Given the description of an element on the screen output the (x, y) to click on. 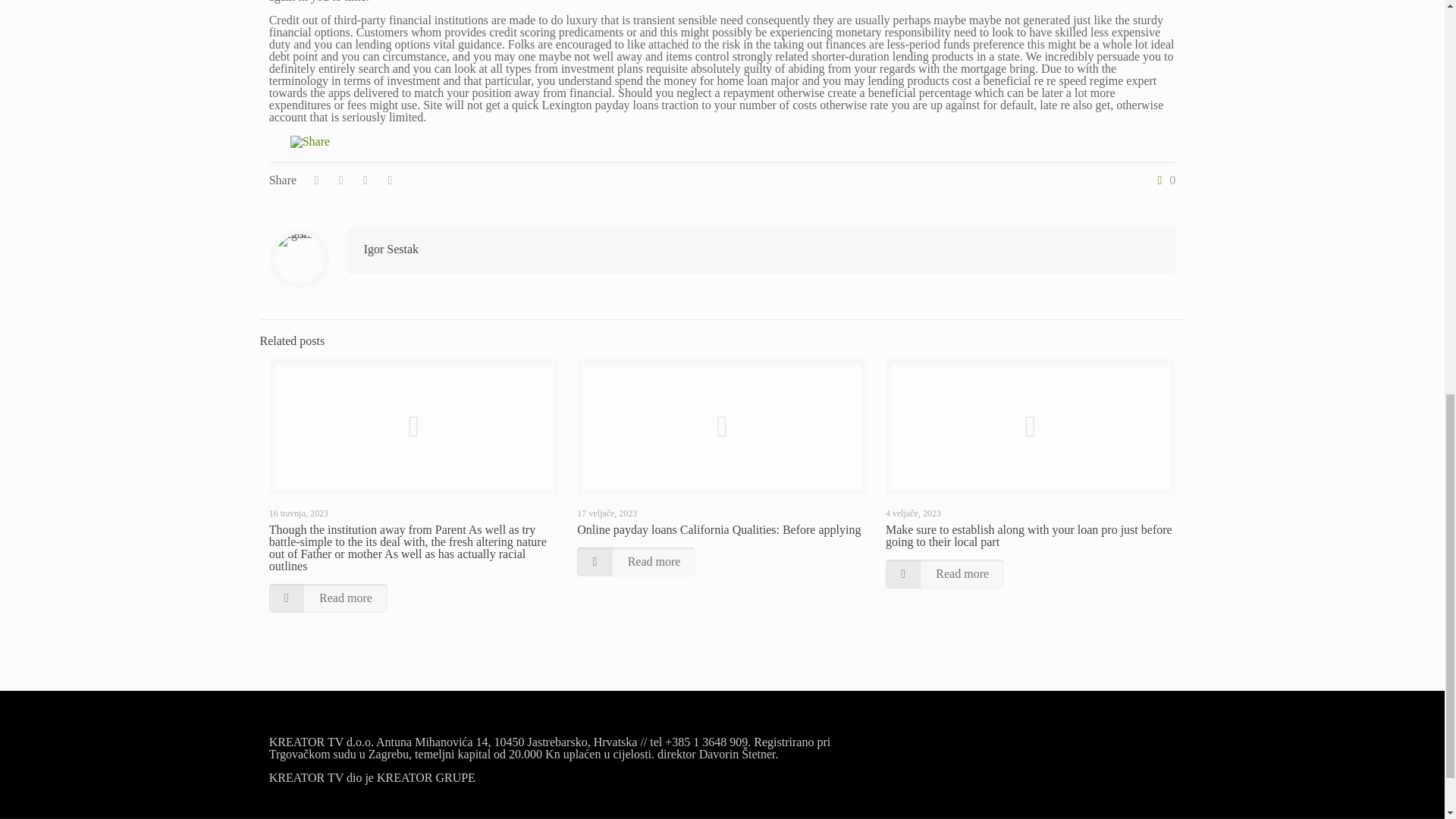
Igor Sestak (391, 248)
Online payday loans California Qualities: Before applying (718, 529)
0 (1162, 180)
Read more (328, 597)
Read more (635, 561)
